Given the description of an element on the screen output the (x, y) to click on. 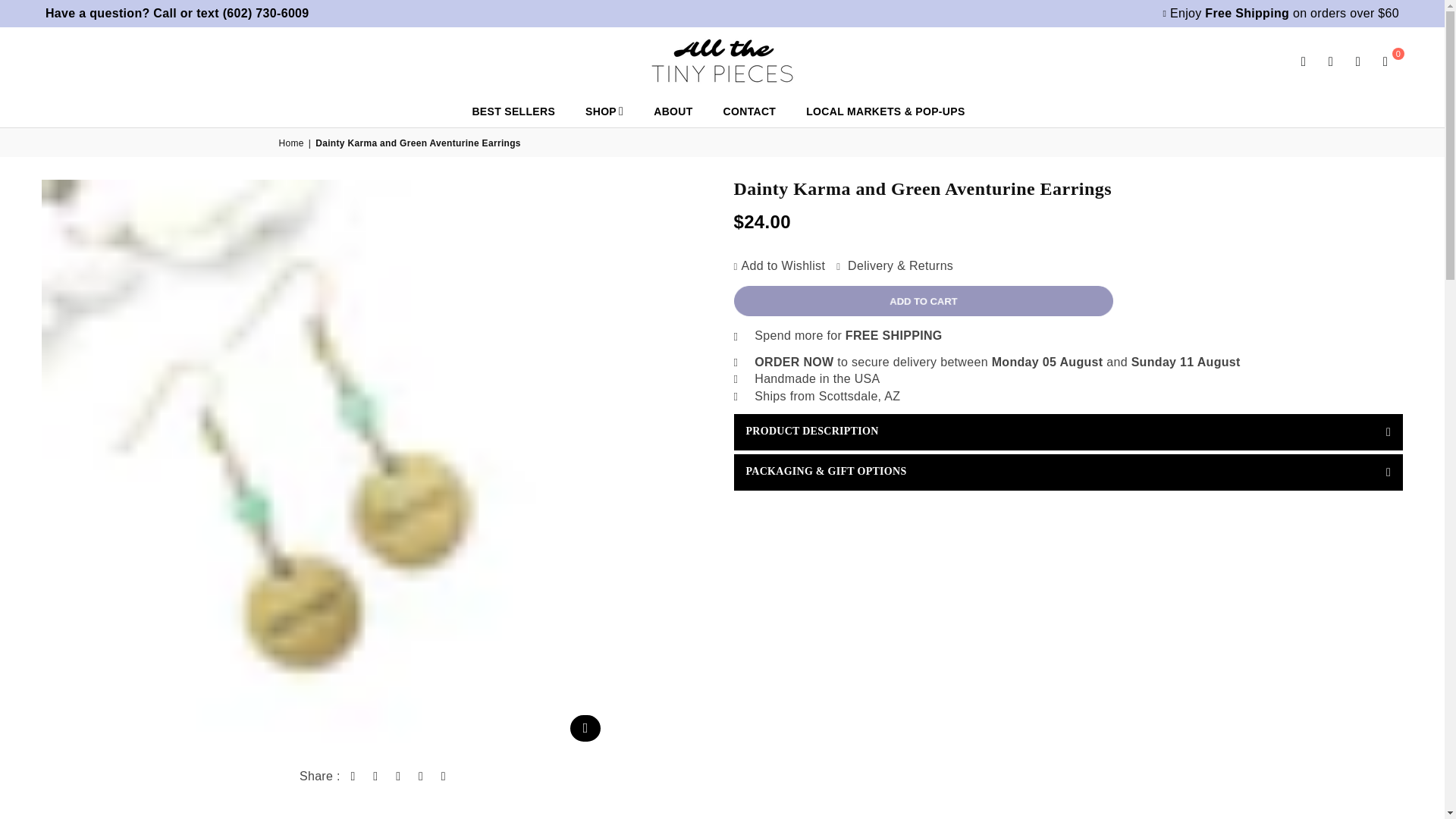
CONTACT (749, 111)
ABOUT (672, 111)
Back to the home page (292, 143)
BEST SELLERS (513, 111)
ALL THE TINY PIECES (721, 61)
Search (1303, 60)
SHOP (603, 111)
Wishlist (1357, 60)
Cart (1385, 60)
Settings (1330, 60)
0 (1385, 60)
